Given the description of an element on the screen output the (x, y) to click on. 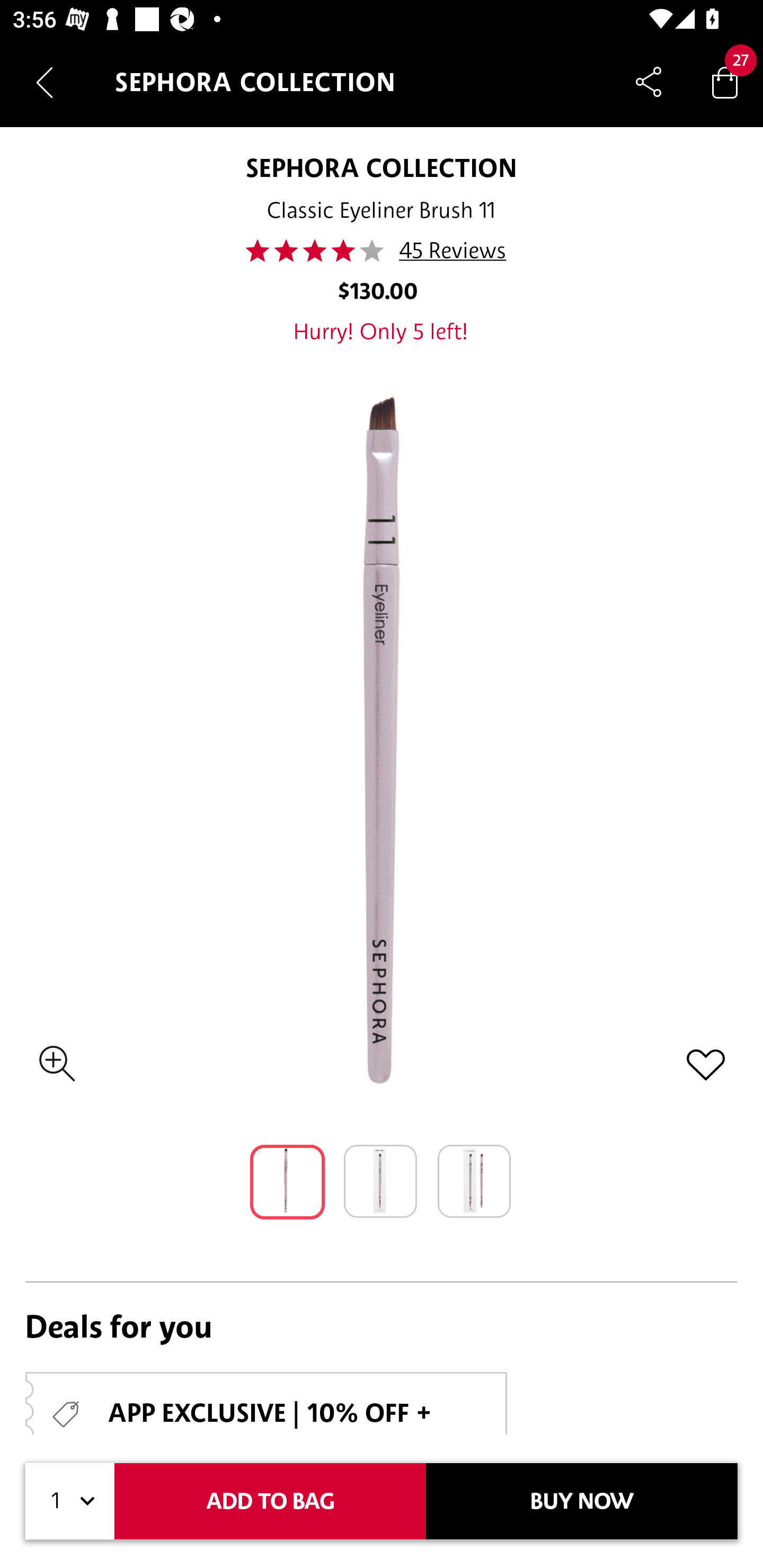
Navigate up (44, 82)
Share (648, 81)
Bag (724, 81)
SEPHORA COLLECTION (380, 167)
41.0 45 Reviews (381, 250)
1 (69, 1500)
ADD TO BAG (269, 1500)
BUY NOW (581, 1500)
